Given the description of an element on the screen output the (x, y) to click on. 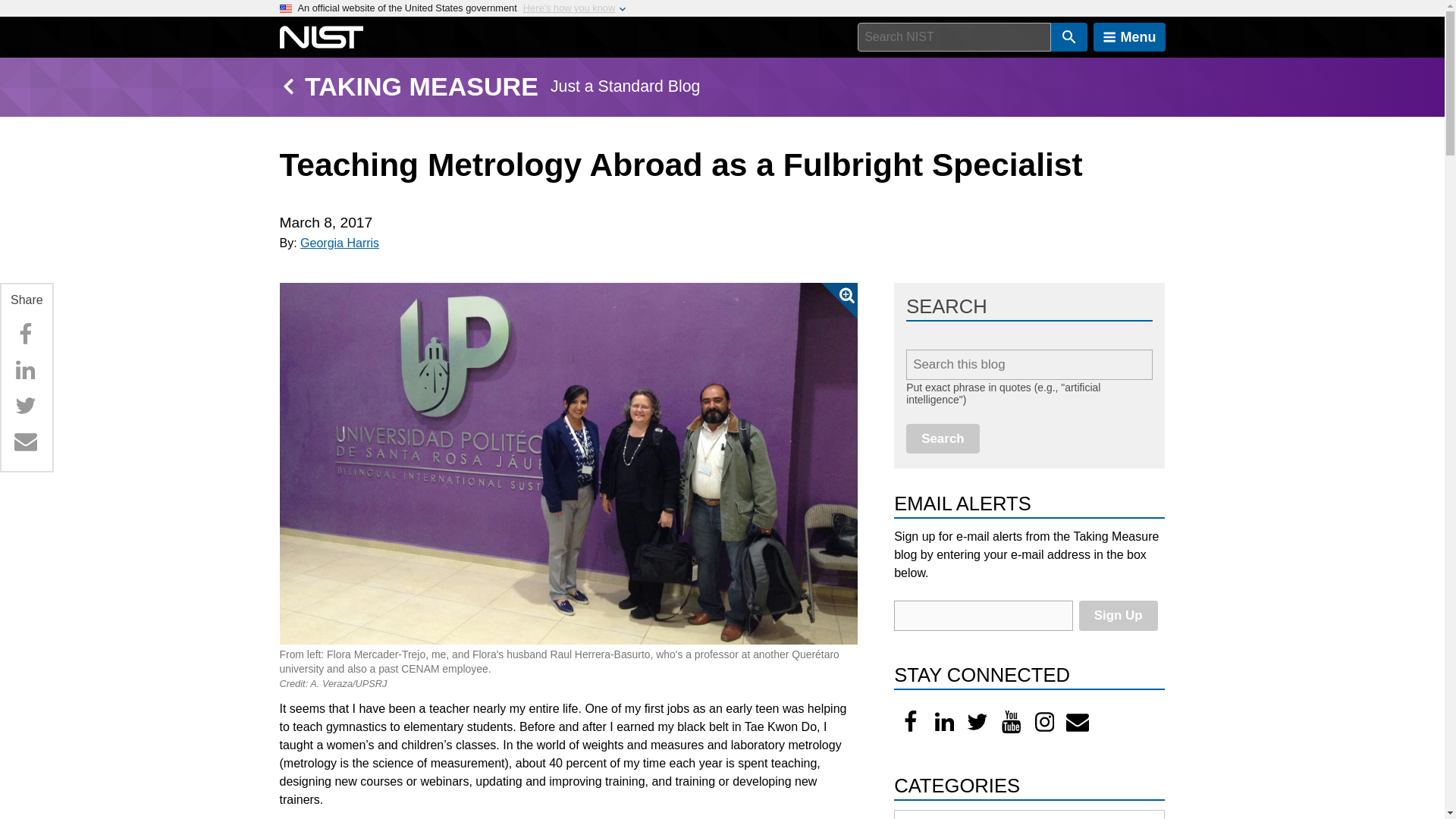
National Institute of Standards and Technology (320, 36)
Email (25, 440)
Search (942, 438)
Twitter (25, 405)
email (983, 615)
Facebook (910, 721)
Facebook (25, 334)
Georgia Harris (338, 242)
Instagram (1044, 721)
Sign Up (1117, 614)
Youtube (1010, 721)
TAKING MEASURE (421, 86)
LinkedIn (943, 721)
Menu (1129, 36)
Linkedin (25, 369)
